Given the description of an element on the screen output the (x, y) to click on. 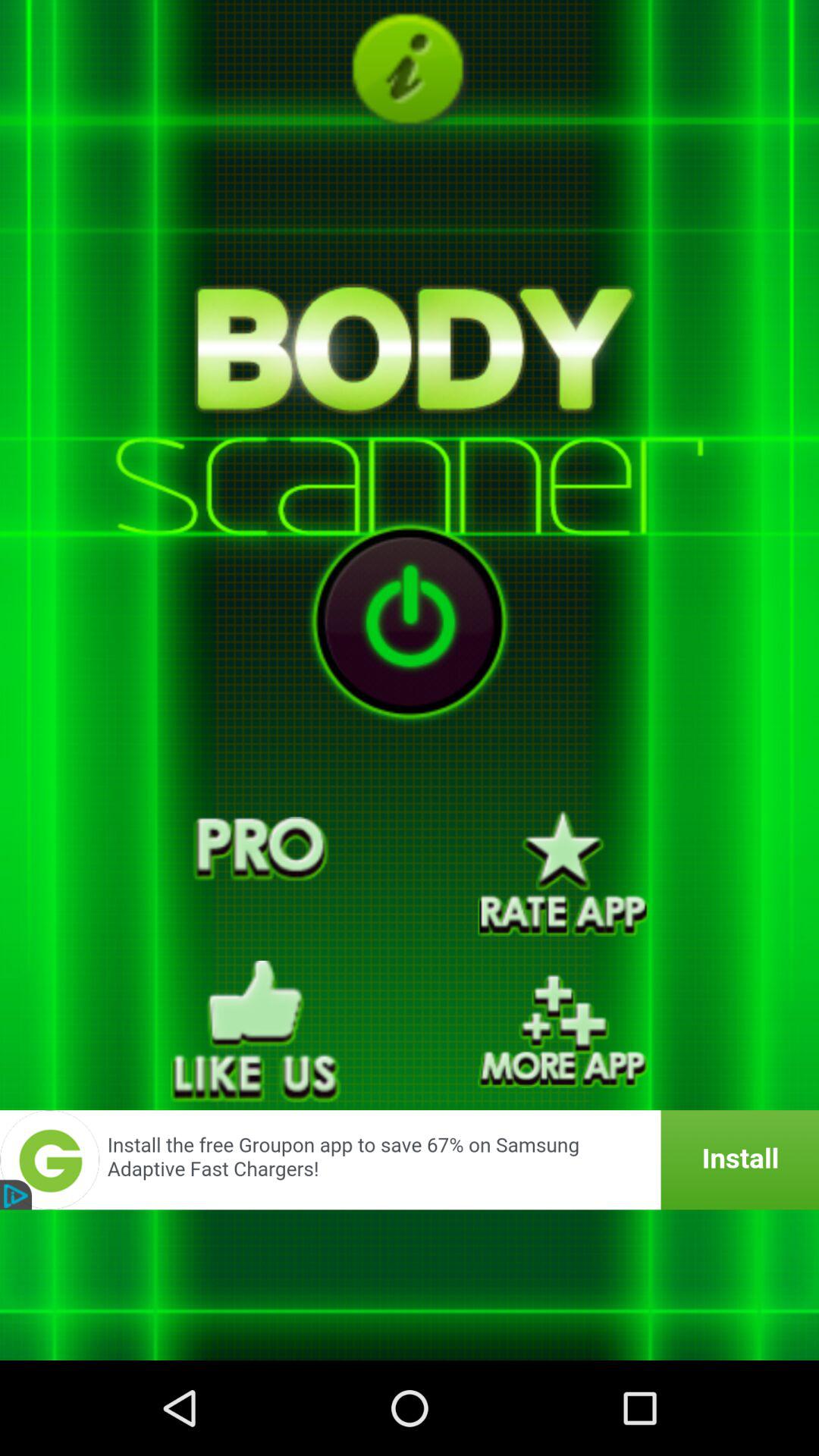
launch advertisement (409, 1159)
